Given the description of an element on the screen output the (x, y) to click on. 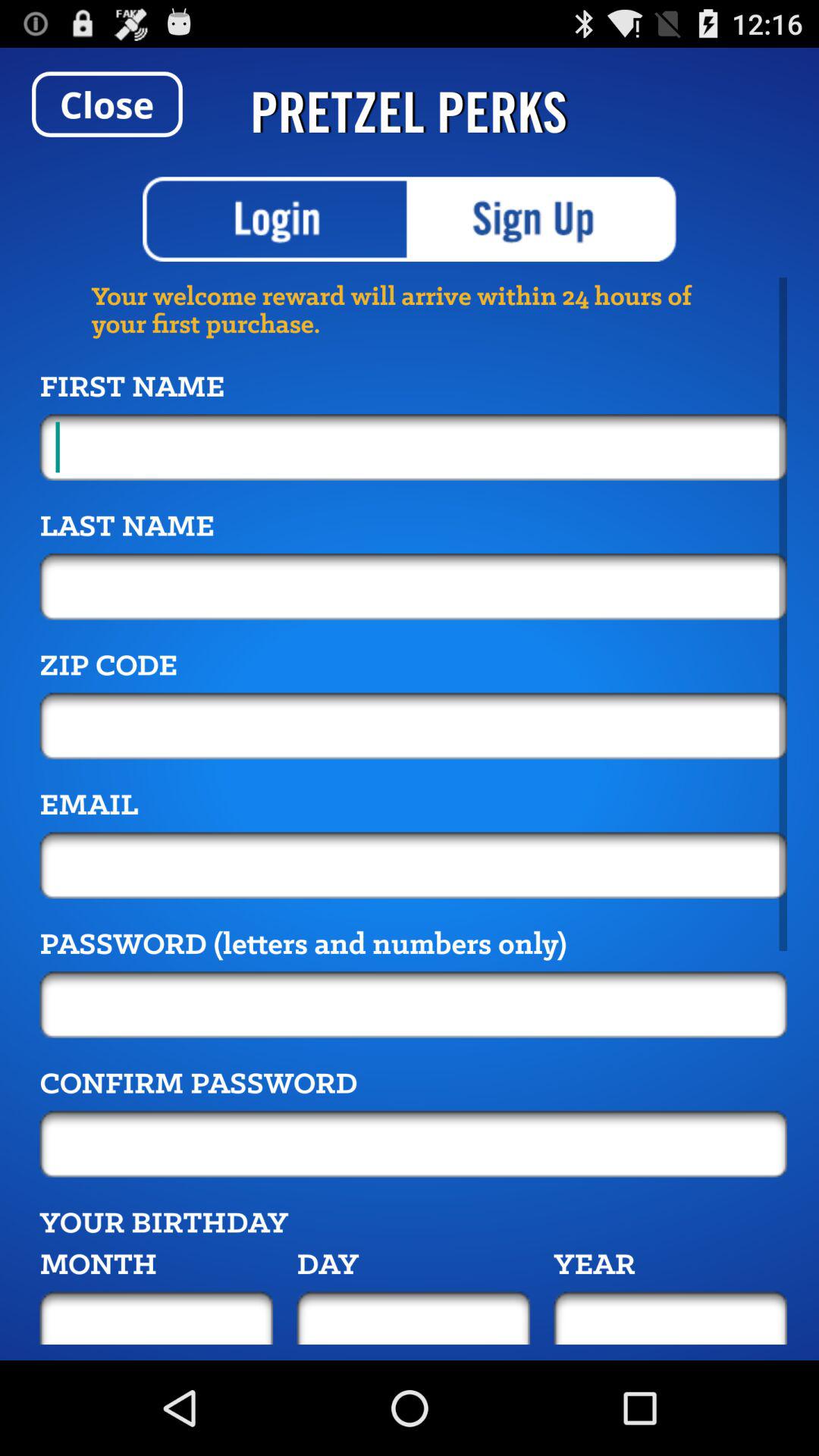
enter your birthday (413, 1317)
